Given the description of an element on the screen output the (x, y) to click on. 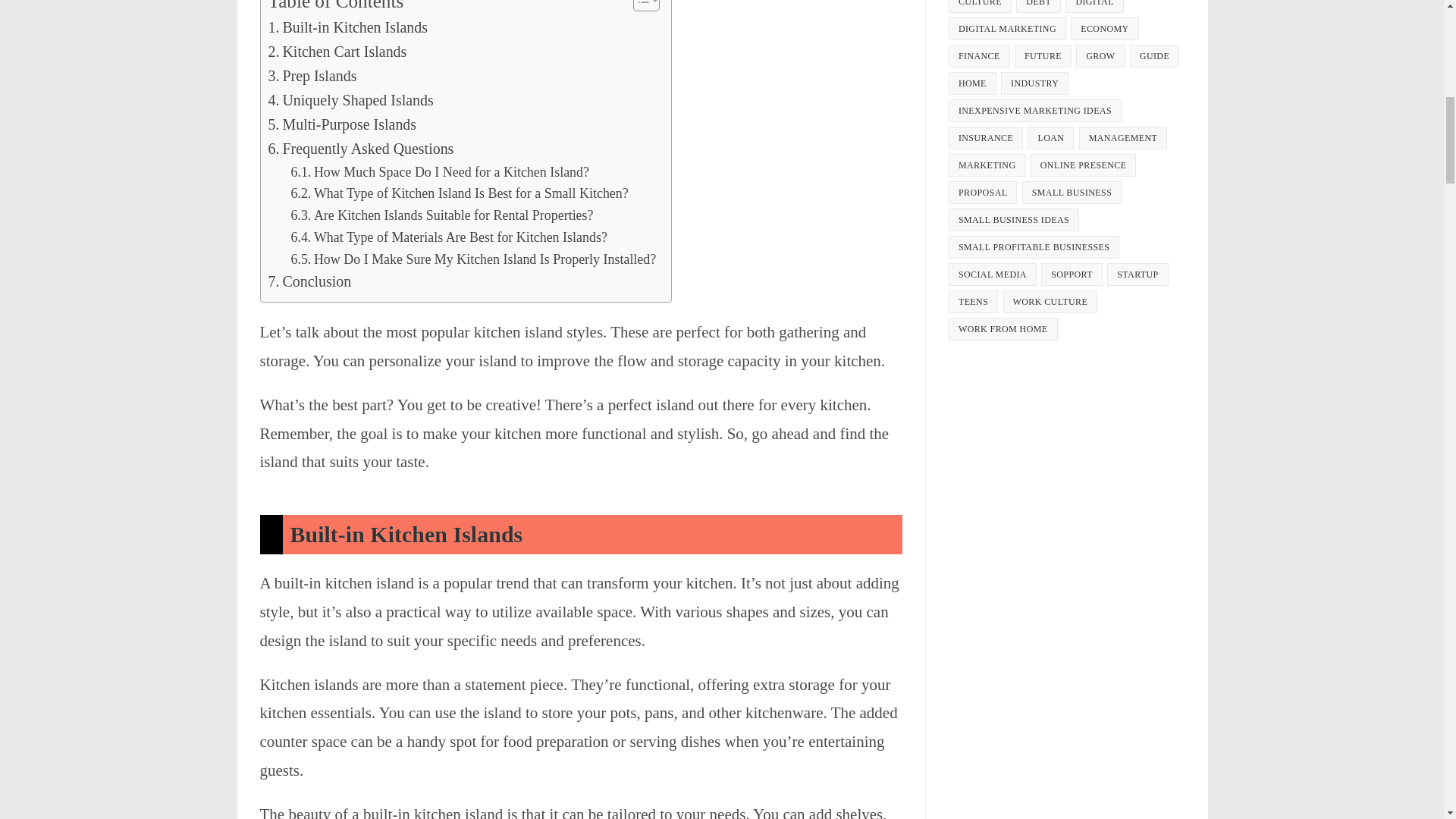
Kitchen Cart Islands (337, 52)
Built-in Kitchen Islands (347, 27)
What Type of Kitchen Island Is Best for a Small Kitchen? (458, 193)
Conclusion (309, 282)
What Type of Kitchen Island Is Best for a Small Kitchen? (458, 193)
Multi-Purpose Islands (341, 125)
Multi-Purpose Islands (341, 125)
Are Kitchen Islands Suitable for Rental Properties? (440, 215)
How Do I Make Sure My Kitchen Island Is Properly Installed? (472, 259)
How Much Space Do I Need for a Kitchen Island? (439, 172)
